Given the description of an element on the screen output the (x, y) to click on. 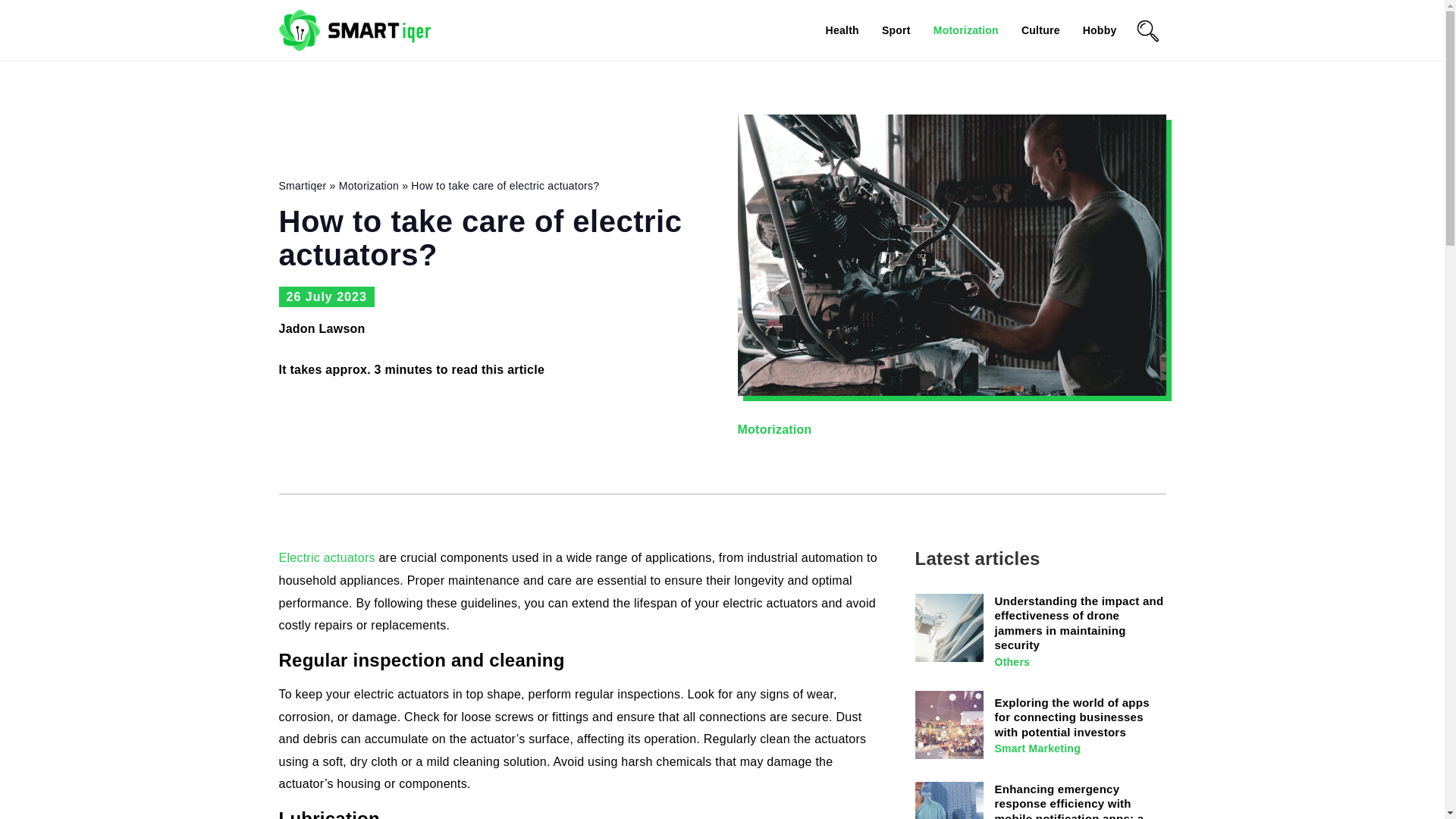
Health (842, 29)
Culture (1040, 29)
Electric actuators (327, 557)
Motorization (773, 429)
Jadon Lawson (322, 328)
Motorization (965, 29)
Hobby (1099, 29)
Sport (896, 29)
